Given the description of an element on the screen output the (x, y) to click on. 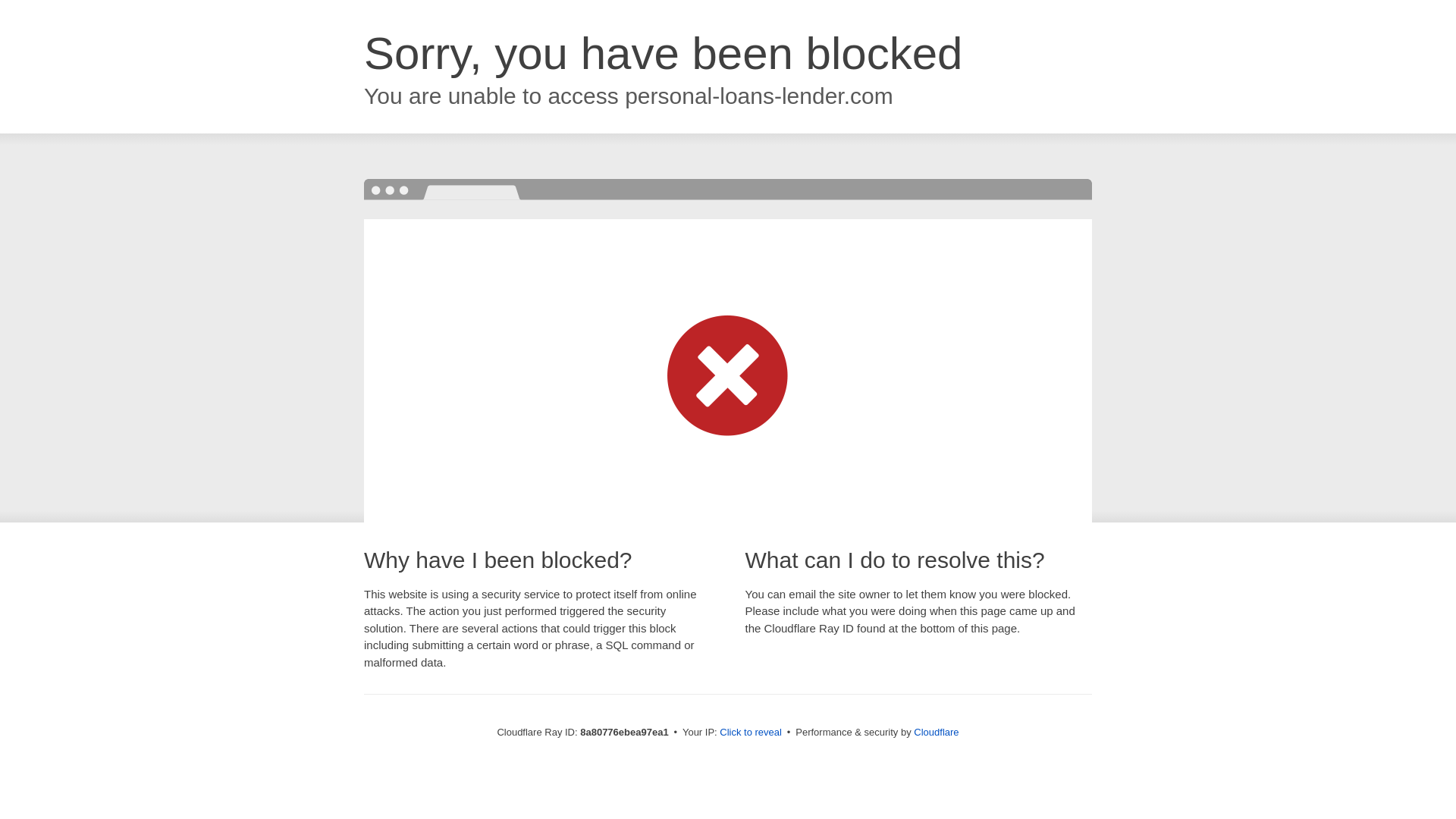
Cloudflare (936, 731)
Click to reveal (750, 732)
